Given the description of an element on the screen output the (x, y) to click on. 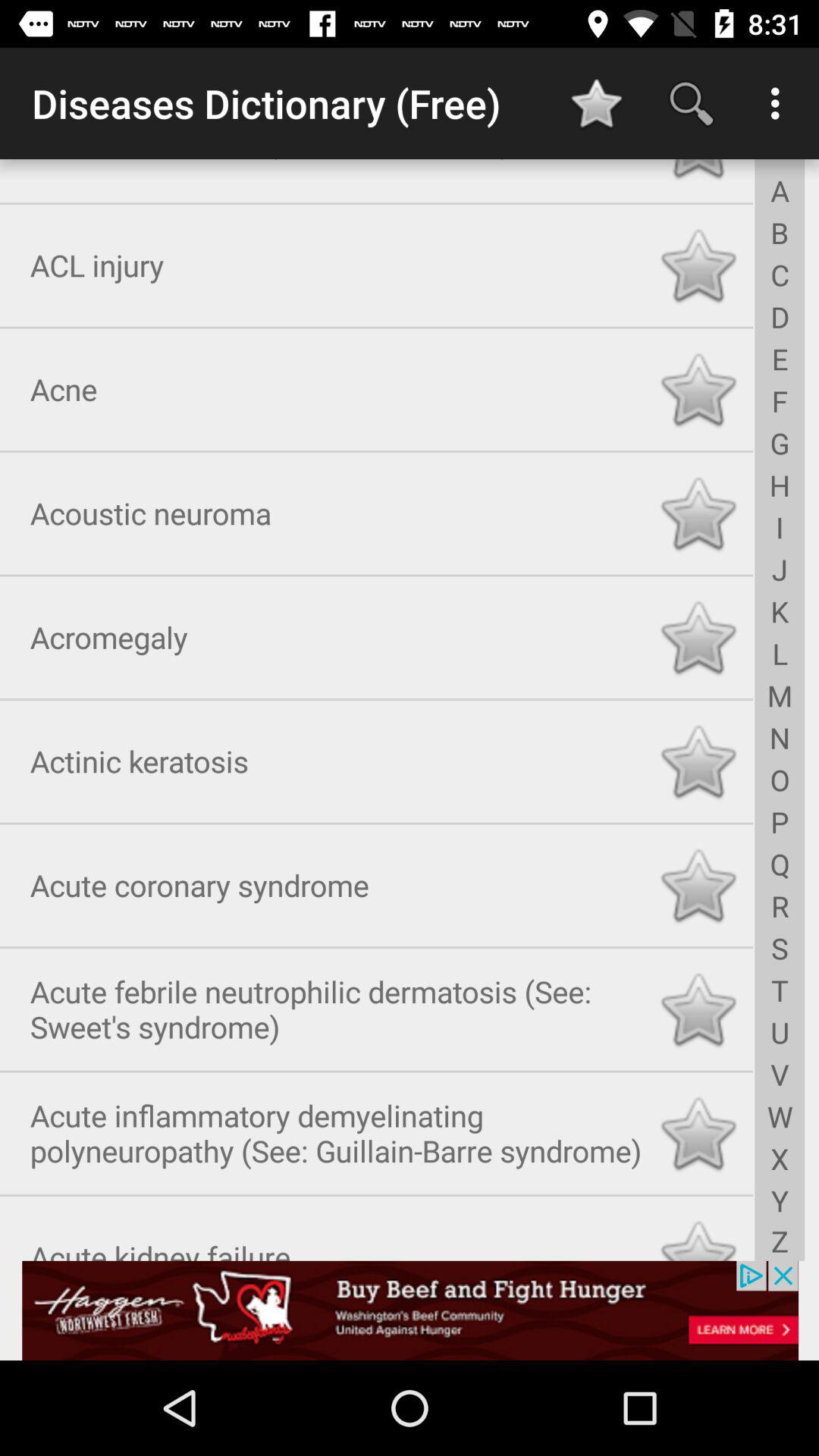
go to favourites (697, 882)
